Given the description of an element on the screen output the (x, y) to click on. 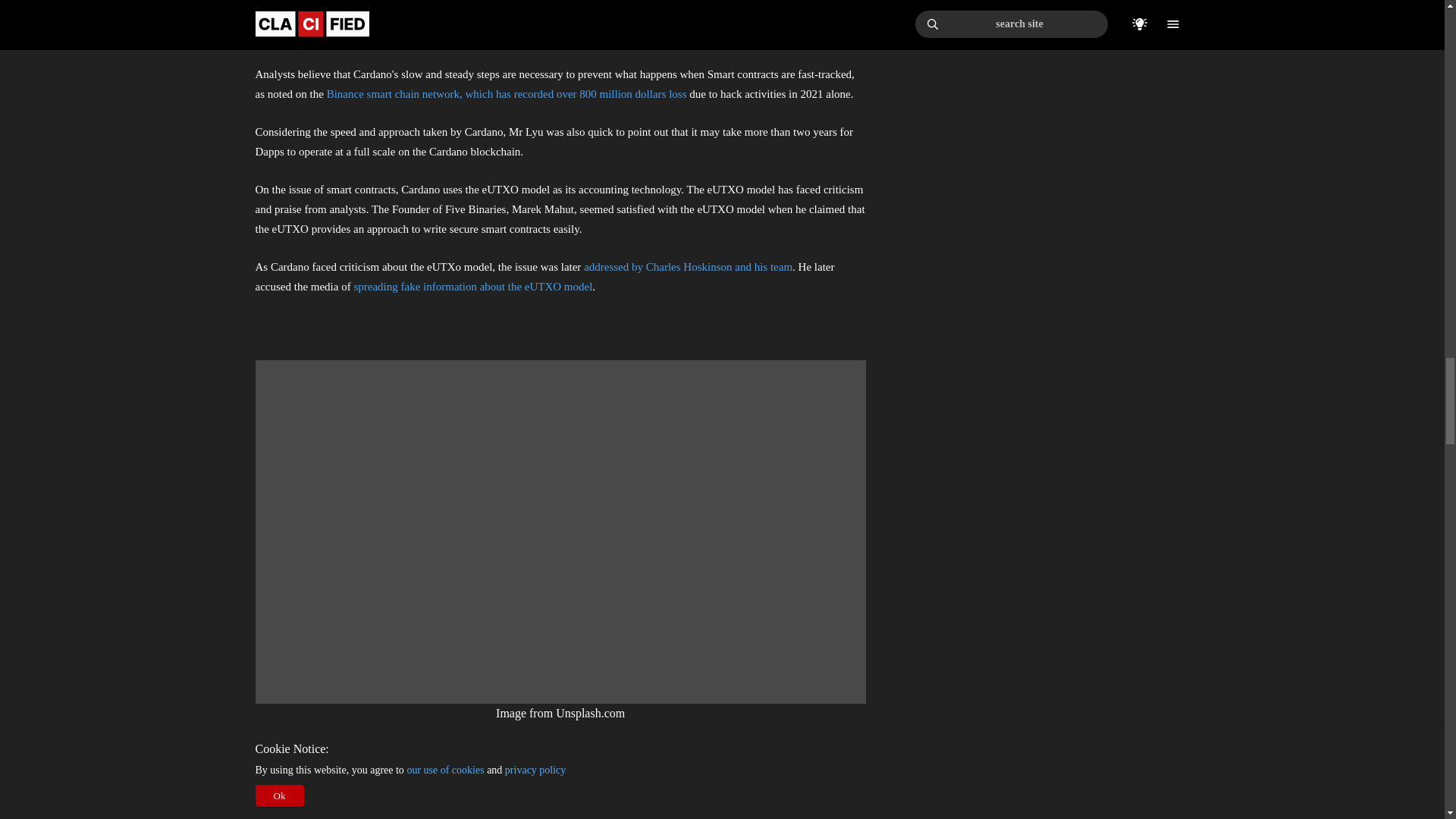
Johnny Lyu, CEO of crypto exchange KuCoin noted (731, 16)
spreading fake information about the eUTXO model (472, 286)
addressed by Charles Hoskinson and his team (687, 266)
